Given the description of an element on the screen output the (x, y) to click on. 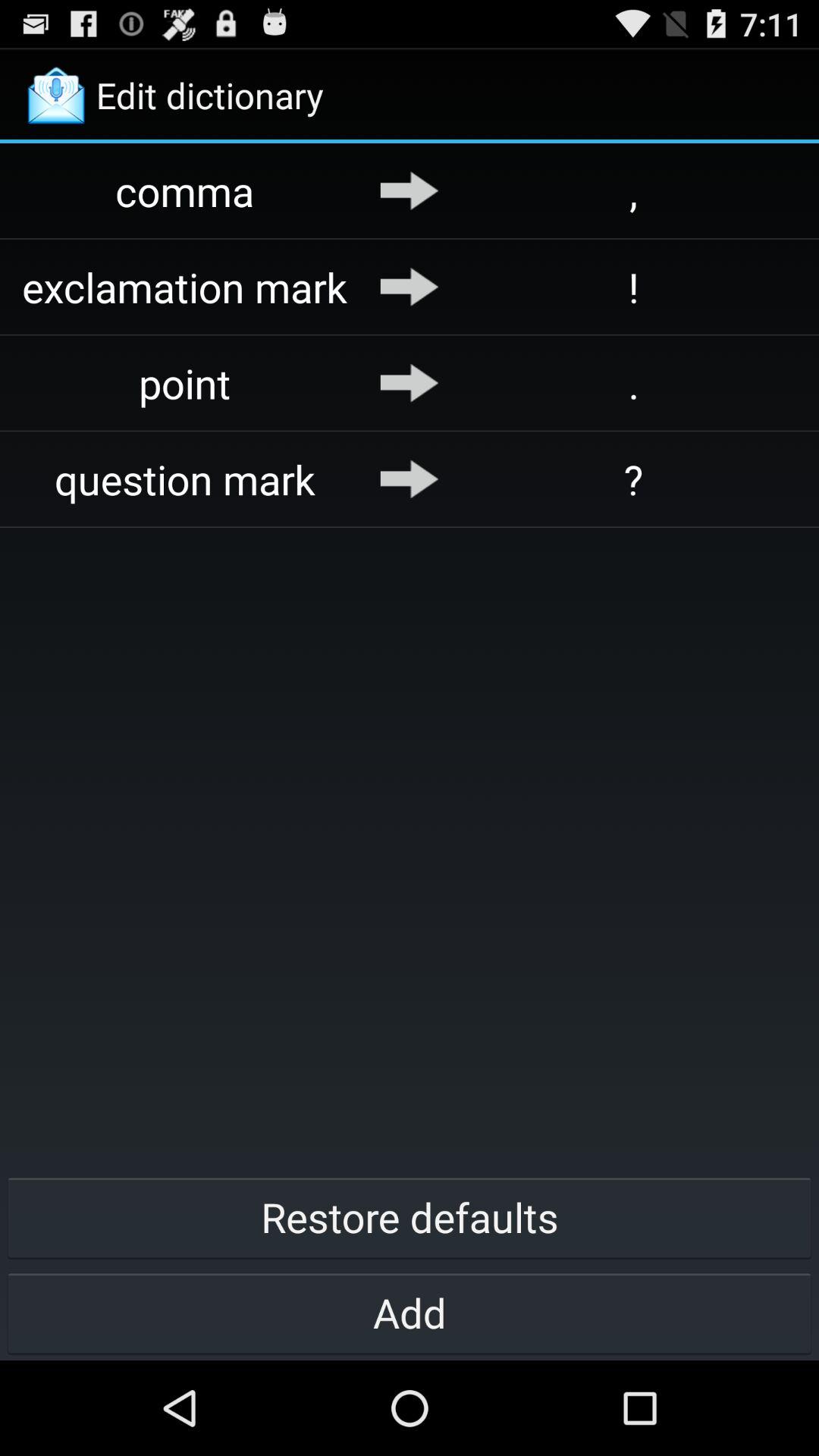
choose item to the left of ! icon (409, 286)
